Given the description of an element on the screen output the (x, y) to click on. 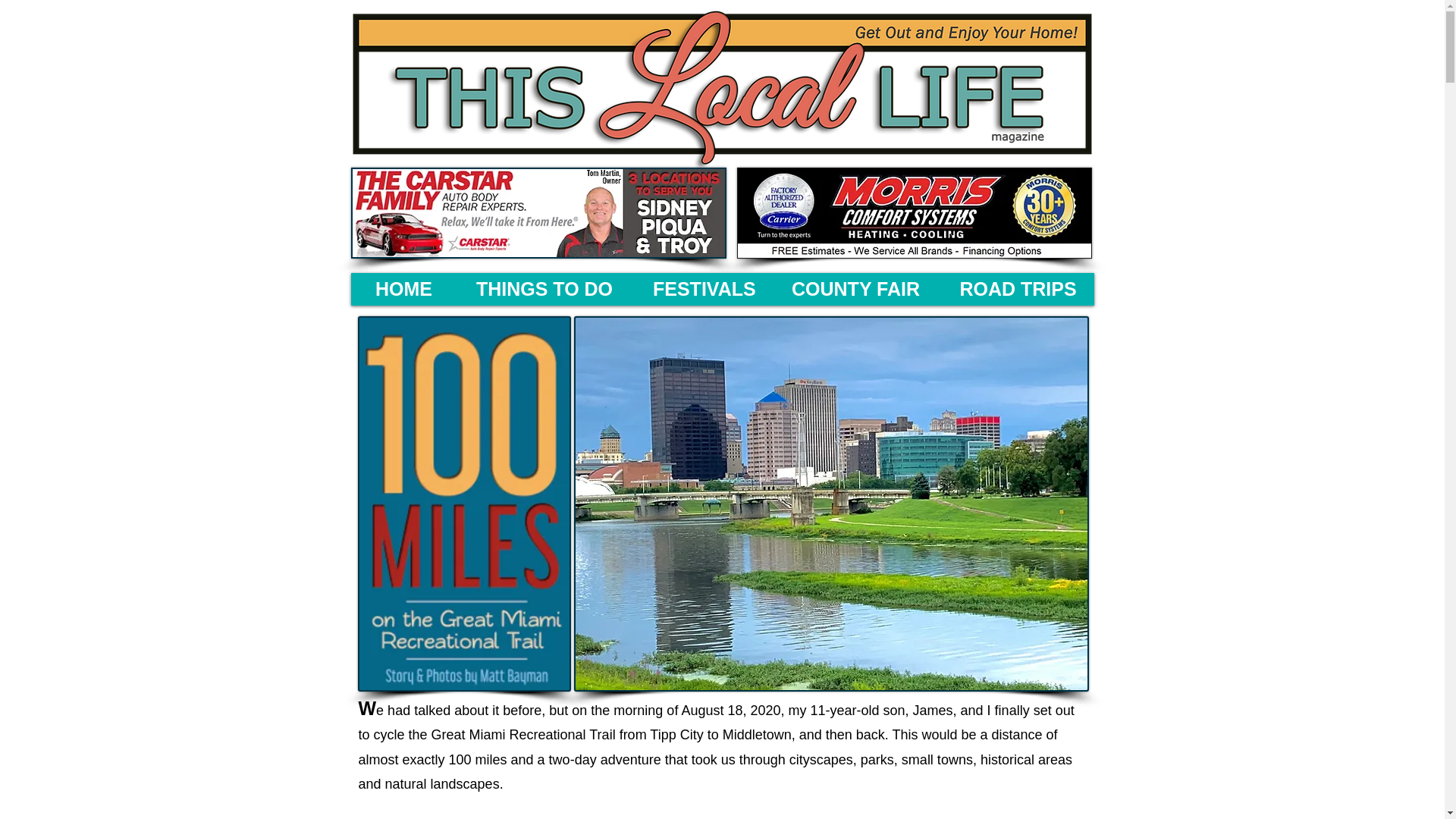
COUNTY FAIR (856, 288)
HOME (403, 288)
ROAD TRIPS (1017, 288)
FESTIVALS (701, 288)
THINGS TO DO (544, 288)
